Given the description of an element on the screen output the (x, y) to click on. 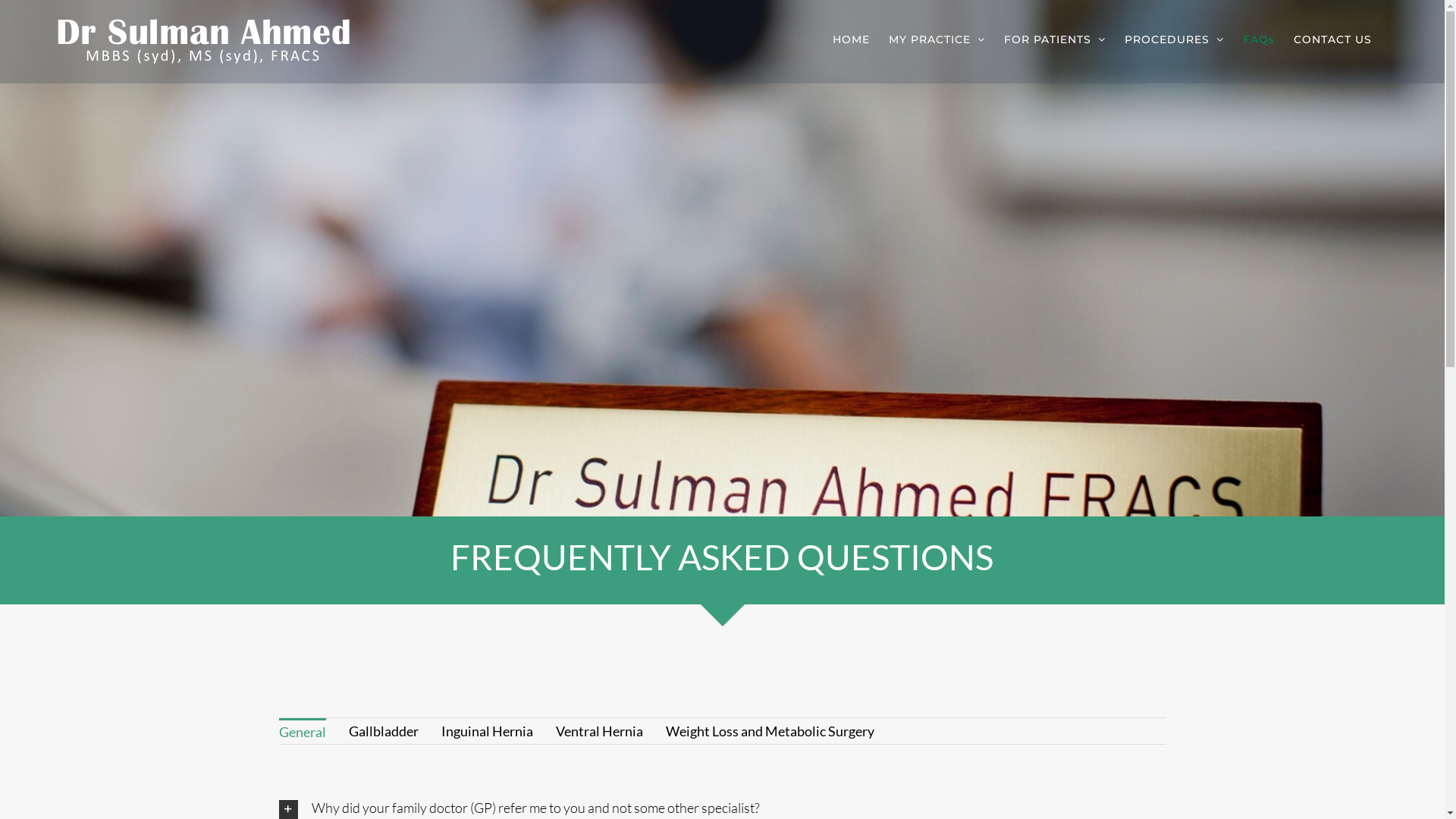
Weight Loss and Metabolic Surgery Element type: text (769, 730)
Gallbladder Element type: text (383, 730)
FAQs Element type: text (1258, 38)
General Element type: text (302, 730)
Inguinal Hernia Element type: text (487, 730)
CONTACT US Element type: text (1332, 38)
FOR PATIENTS Element type: text (1054, 38)
Ventral Hernia Element type: text (598, 730)
HOME Element type: text (850, 38)
MY PRACTICE Element type: text (936, 38)
PROCEDURES Element type: text (1173, 38)
